Given the description of an element on the screen output the (x, y) to click on. 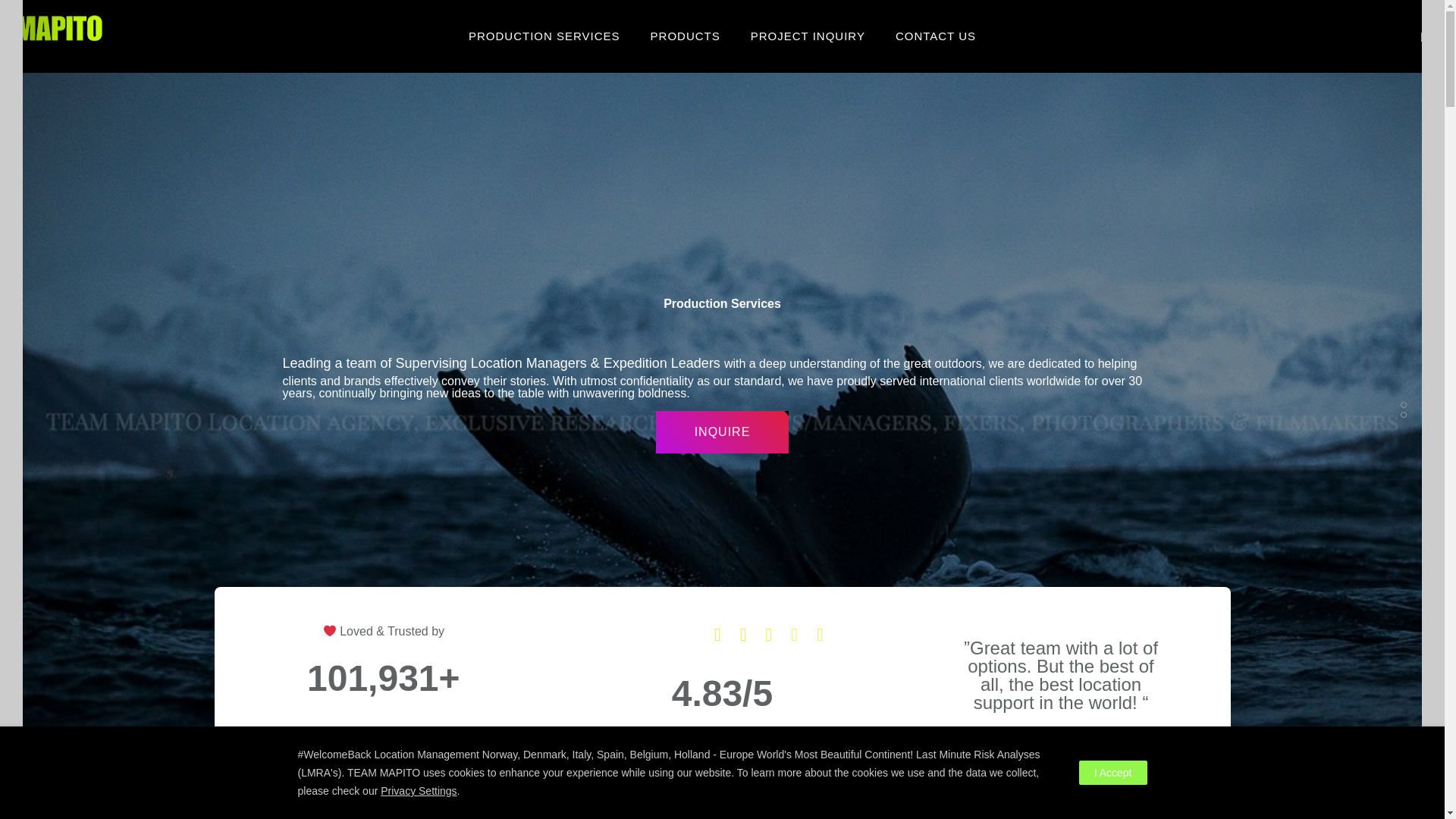
PRODUCTS (684, 35)
Production Services (543, 35)
PRODUCTS (684, 35)
PROJECT INQUIRY (807, 35)
CONTACT US (935, 35)
Project Inquiry (807, 35)
PRODUCTION SERVICES (543, 35)
